Given the description of an element on the screen output the (x, y) to click on. 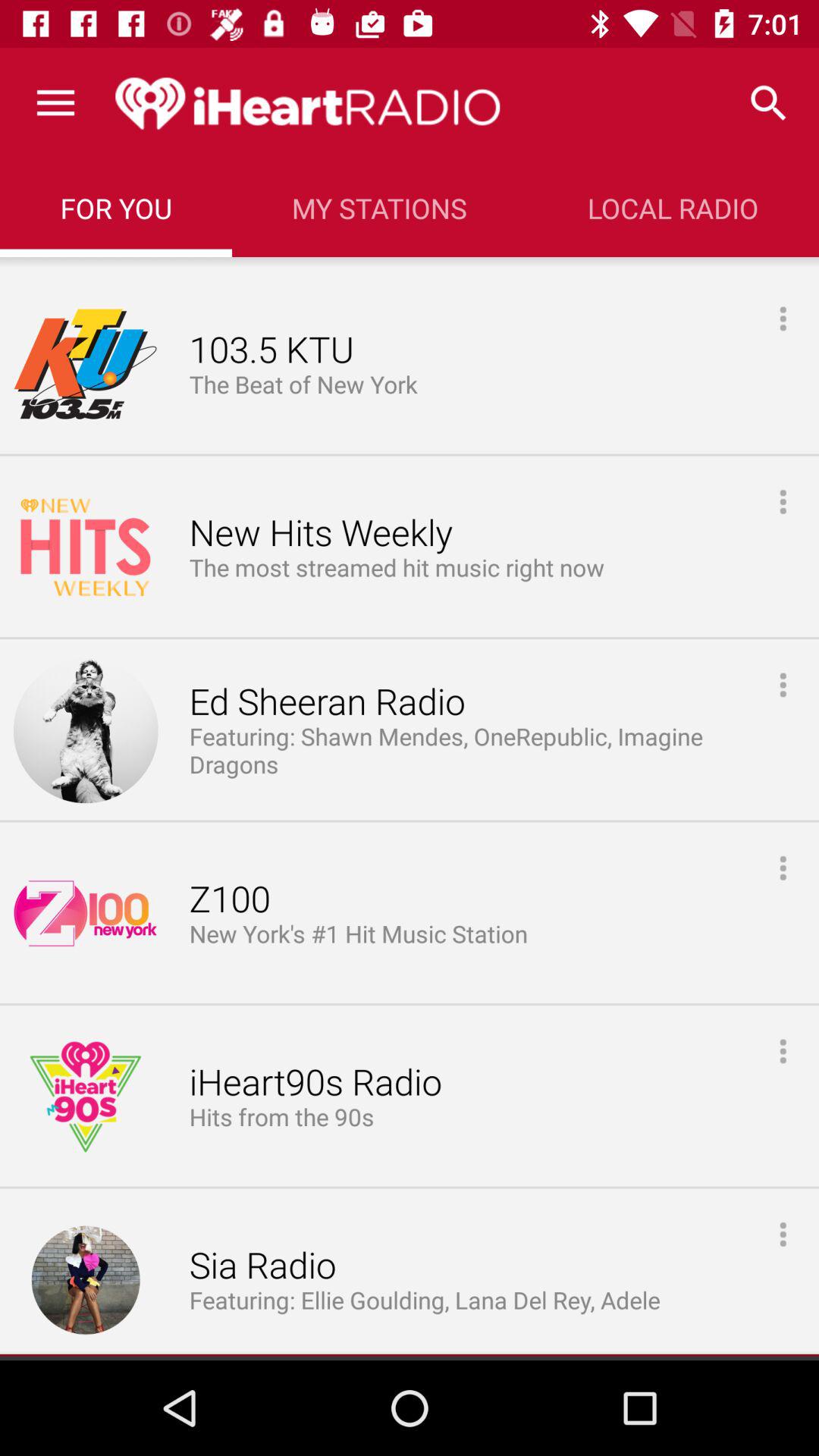
press for you icon (116, 208)
